Given the description of an element on the screen output the (x, y) to click on. 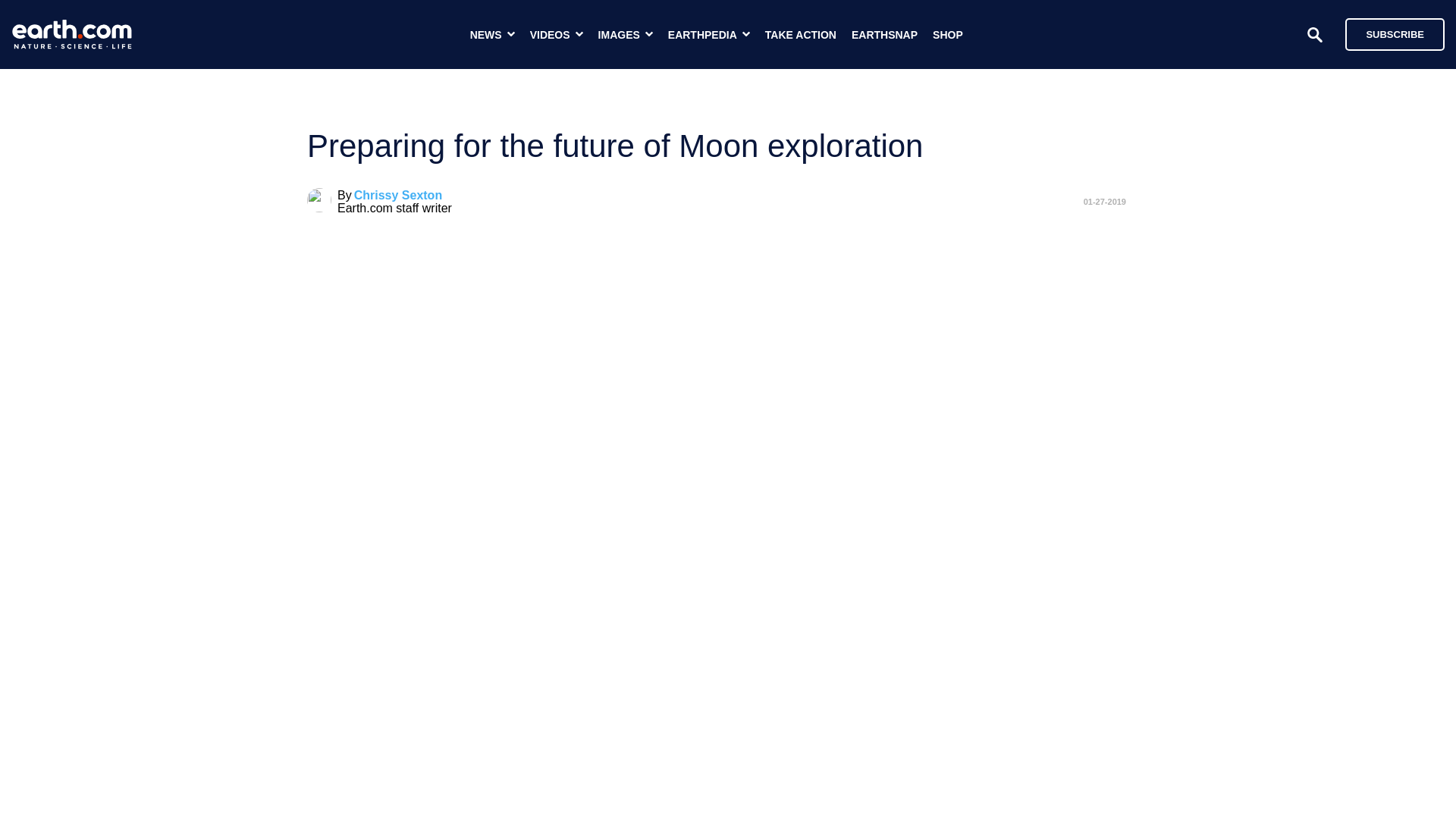
TAKE ACTION (800, 34)
SUBSCRIBE (1394, 34)
EARTHSNAP (884, 34)
SHOP (947, 34)
